Given the description of an element on the screen output the (x, y) to click on. 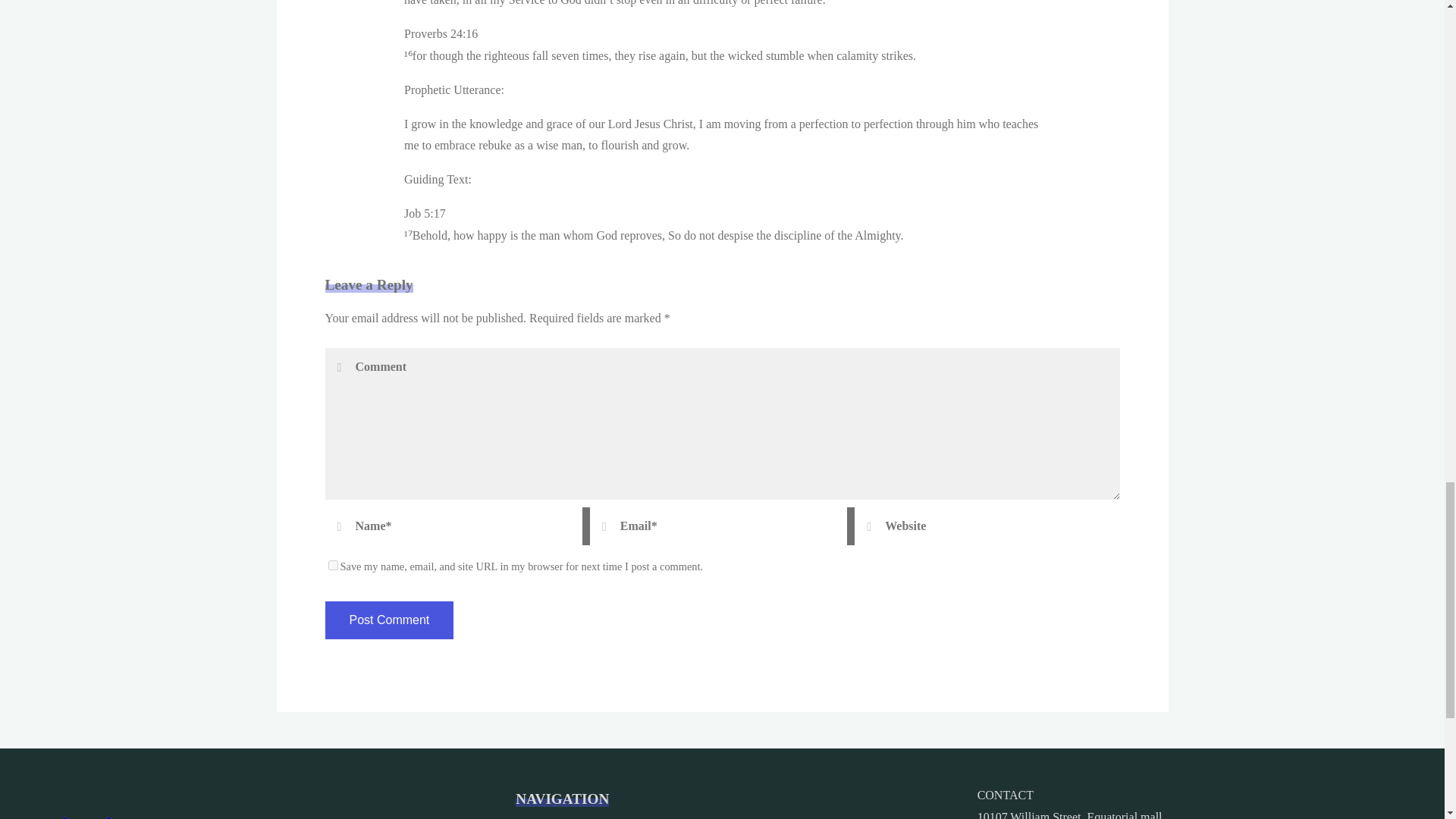
Post Comment (388, 620)
yes (332, 565)
Post Comment (388, 620)
